Given the description of an element on the screen output the (x, y) to click on. 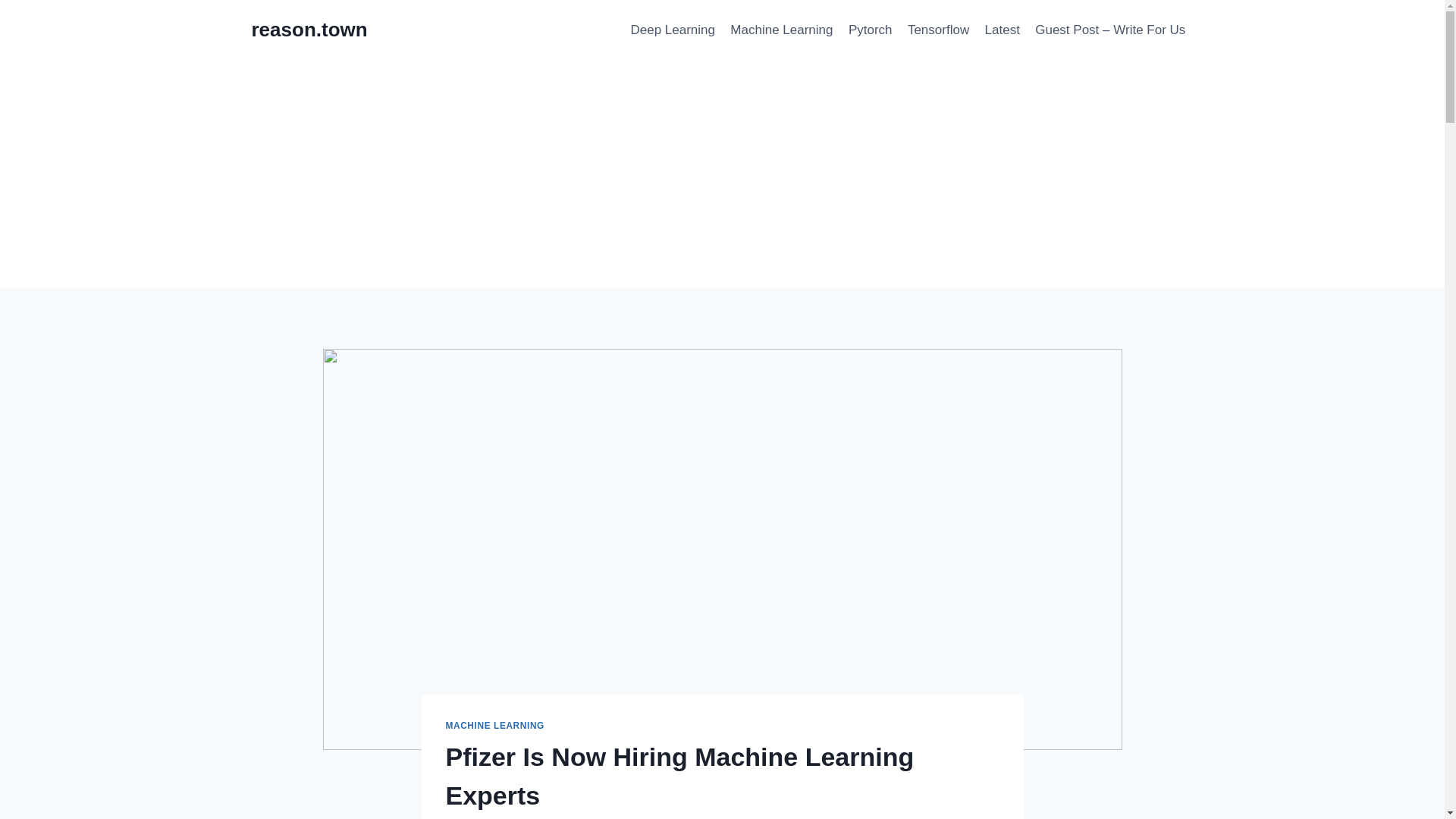
Pytorch (870, 30)
Tensorflow (937, 30)
Machine Learning (781, 30)
Deep Learning (672, 30)
MACHINE LEARNING (494, 725)
reason.town (309, 29)
Latest (1001, 30)
